Given the description of an element on the screen output the (x, y) to click on. 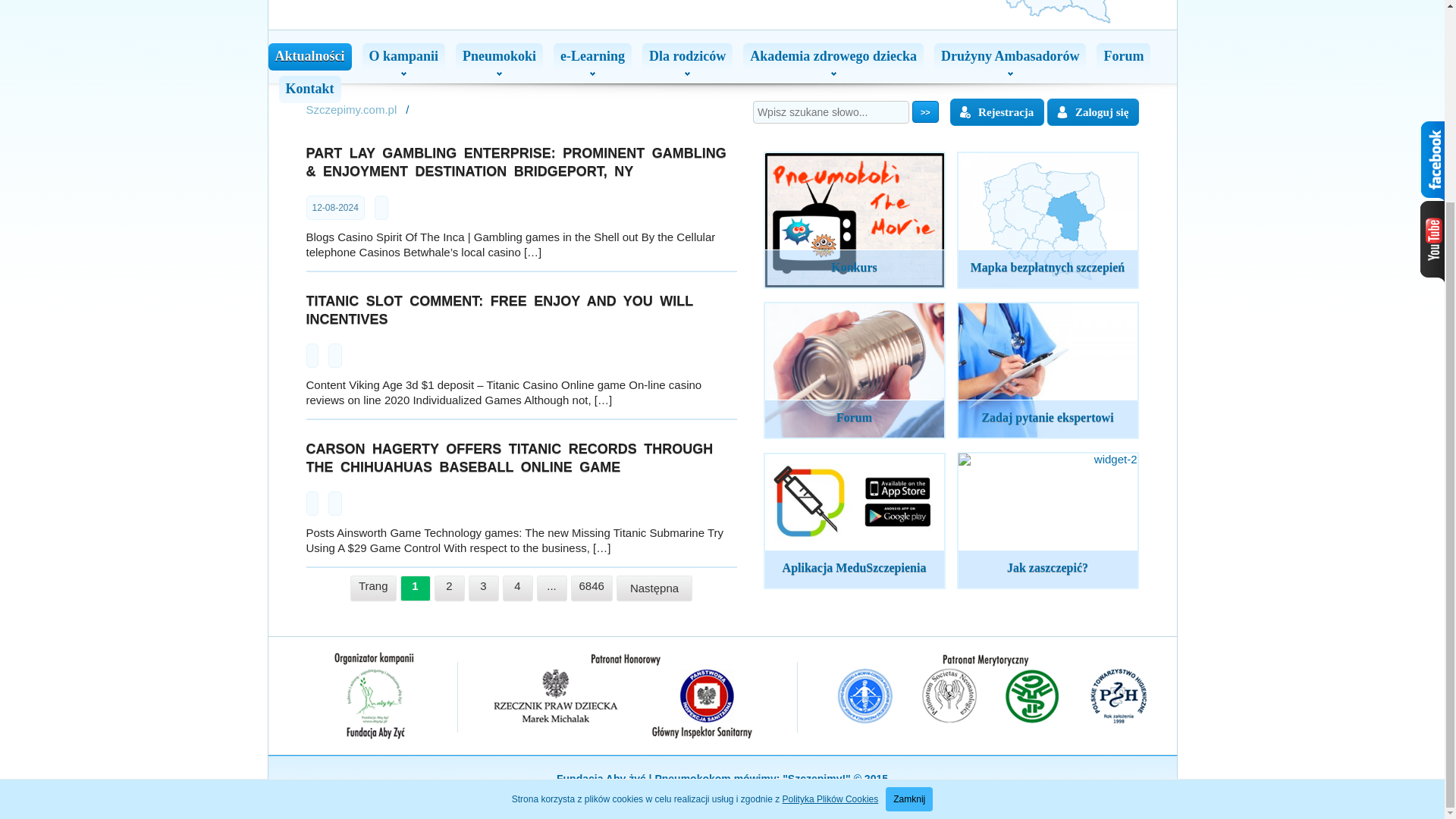
Pneumokoki (499, 56)
O kampanii (403, 56)
e-Learning (592, 56)
Homepage (351, 109)
